Given the description of an element on the screen output the (x, y) to click on. 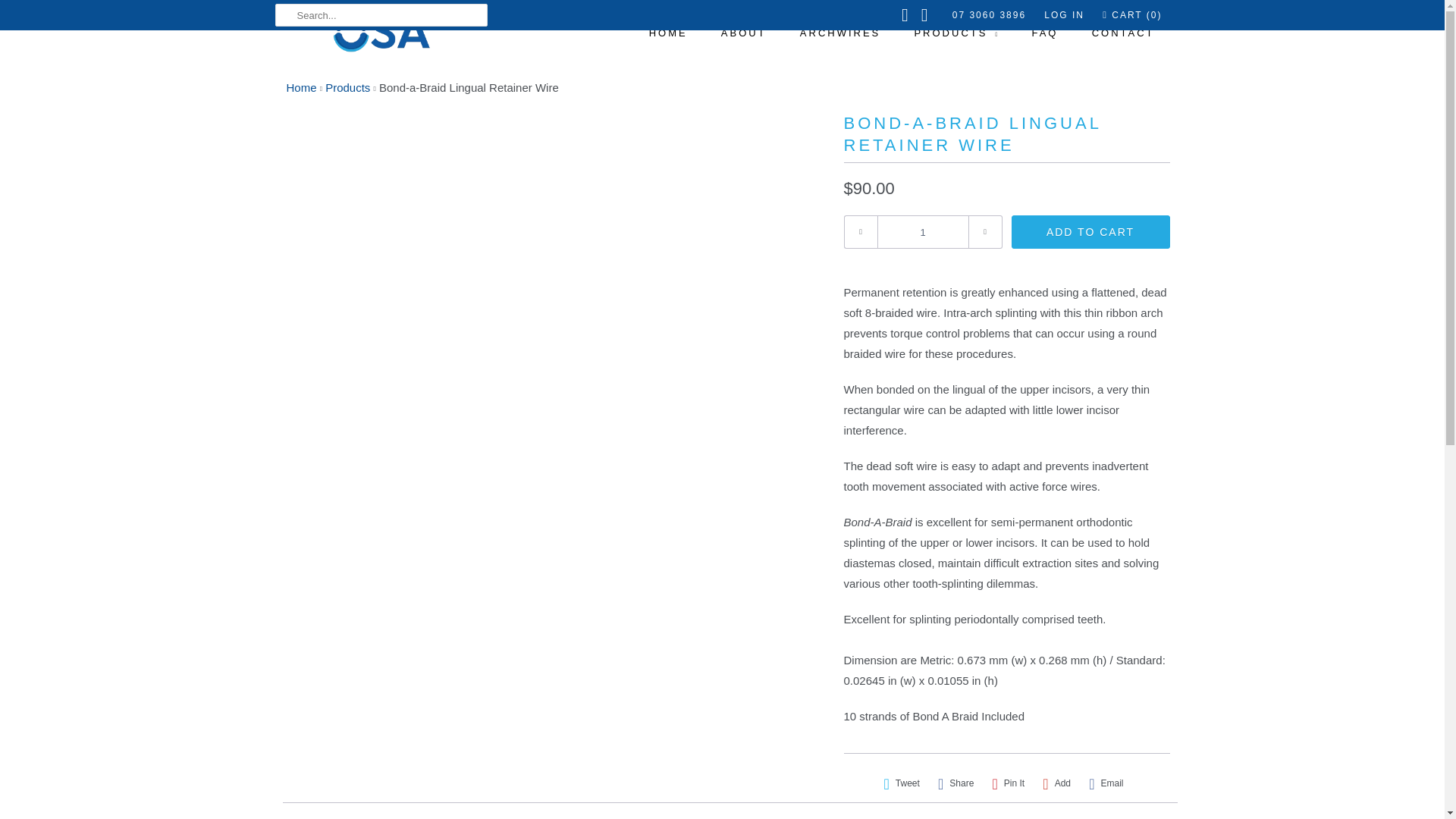
07 3060 3896 (989, 15)
ARCHWIRES (839, 32)
ABOUT (743, 32)
Orthodontic Supplies Australia (301, 87)
LOG IN (1063, 15)
Share this on Twitter (901, 783)
1 (922, 231)
Orthodontic Supplies Australia (380, 33)
HOME (668, 32)
PRODUCTS (955, 32)
